Given the description of an element on the screen output the (x, y) to click on. 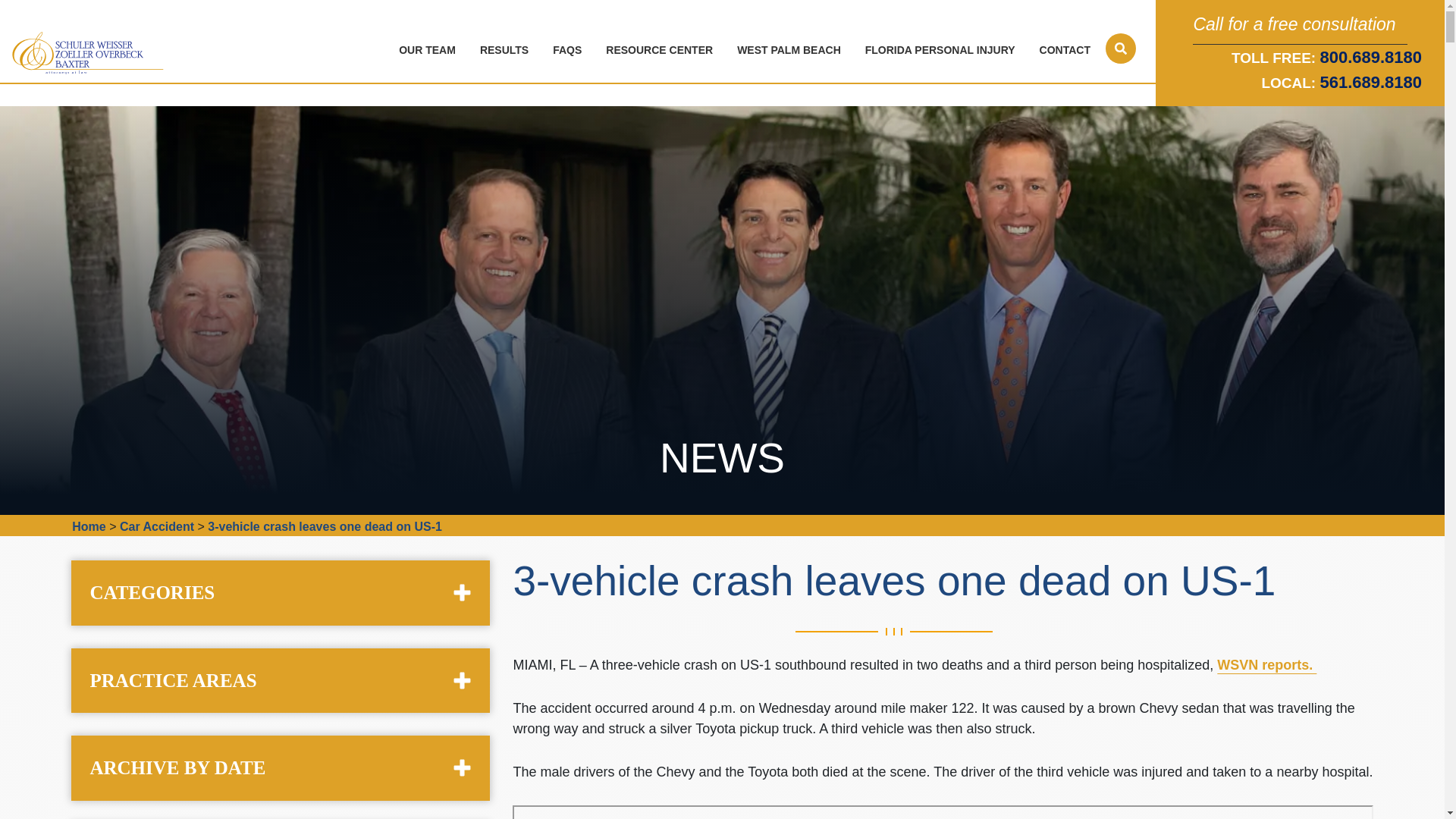
WSVN reports.  (1266, 664)
561.689.8180 (1370, 81)
CONTACT (1067, 50)
WEST PALM BEACH (792, 50)
FAQS (569, 50)
Car Accident (156, 526)
Home (87, 526)
Go to the Car Accident category archives. (156, 526)
search modal (1120, 48)
RESOURCE CENTER (662, 50)
FLORIDA PERSONAL INJURY (943, 50)
OUR TEAM (430, 50)
RESULTS (506, 50)
Go to Home (87, 526)
